Given the description of an element on the screen output the (x, y) to click on. 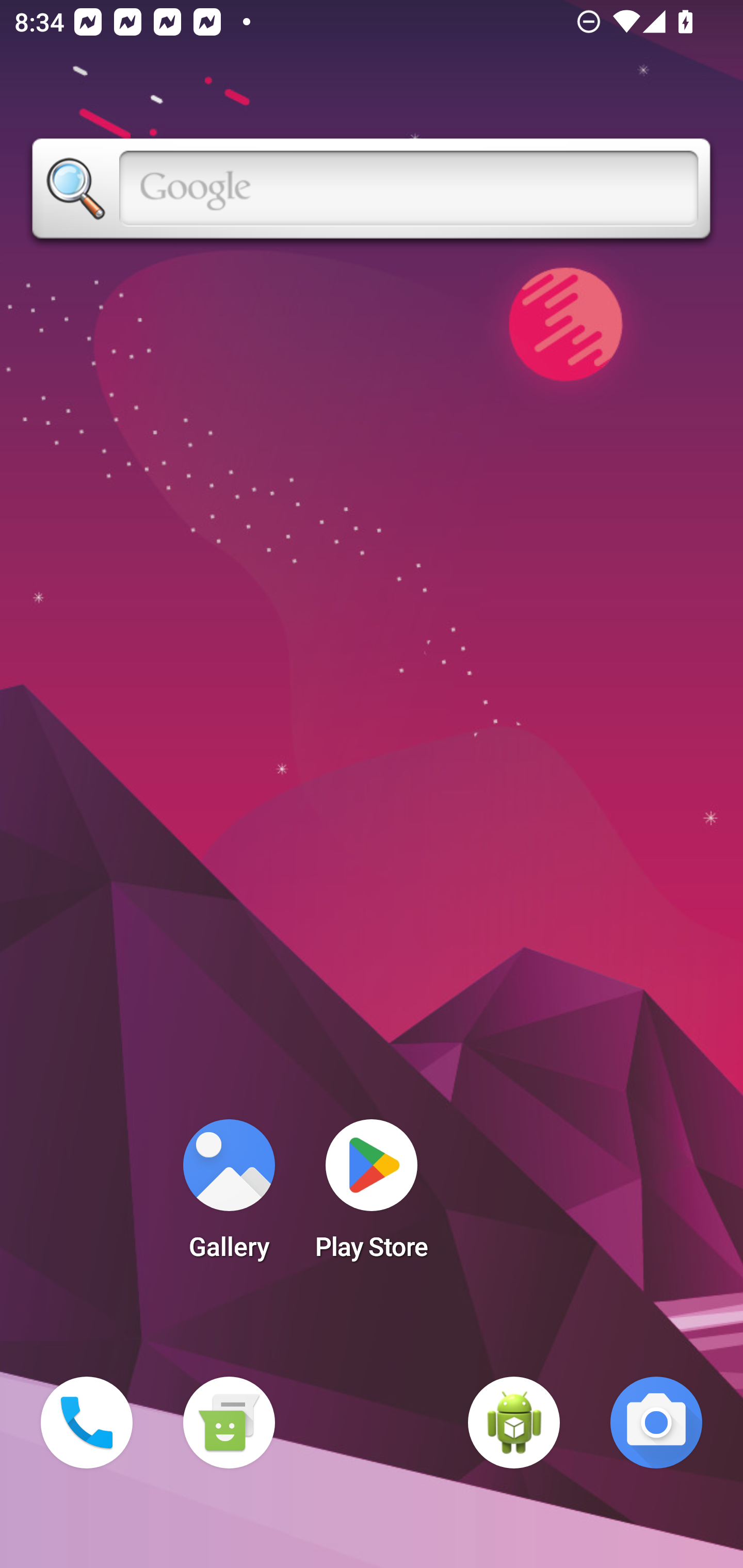
Gallery (228, 1195)
Play Store (371, 1195)
Phone (86, 1422)
Messaging (228, 1422)
WebView Browser Tester (513, 1422)
Camera (656, 1422)
